Given the description of an element on the screen output the (x, y) to click on. 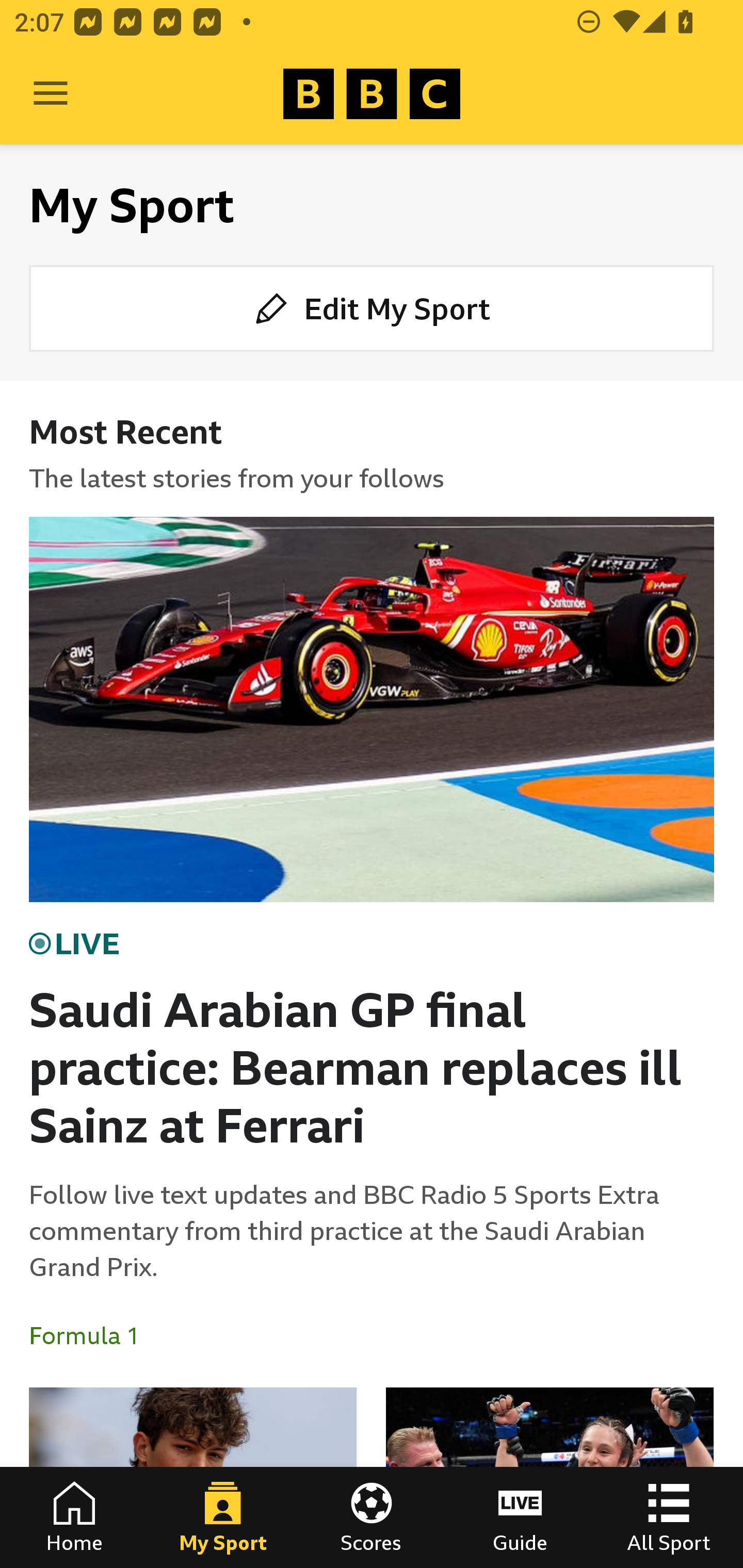
Open Menu (50, 93)
Edit My Sport (371, 307)
Home (74, 1517)
Scores (371, 1517)
Guide (519, 1517)
All Sport (668, 1517)
